Given the description of an element on the screen output the (x, y) to click on. 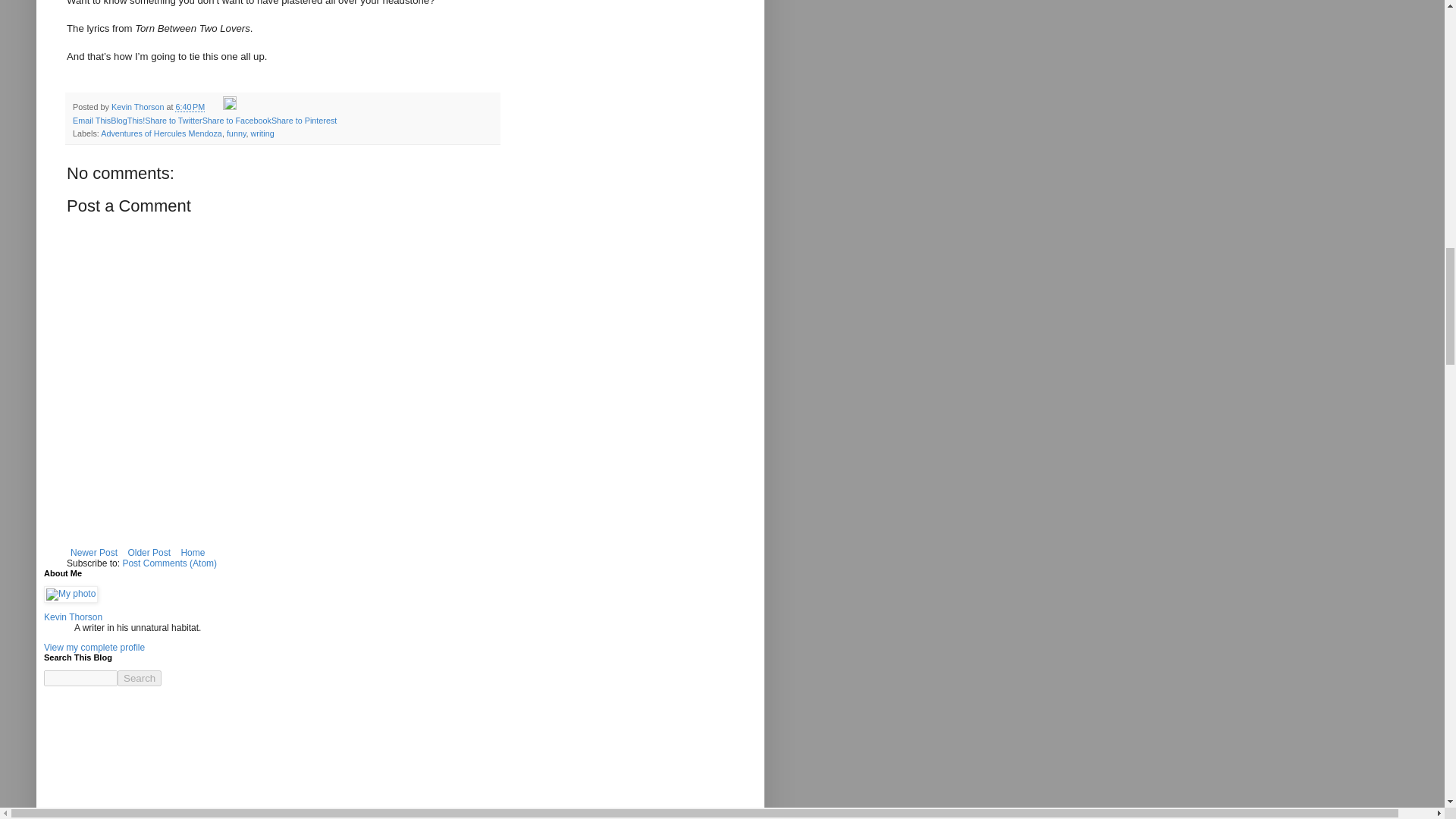
Share to Twitter (173, 120)
Share to Pinterest (303, 120)
author profile (138, 106)
Email This (91, 120)
Search (139, 678)
Share to Facebook (236, 120)
BlogThis! (127, 120)
Share to Pinterest (303, 120)
Email This (91, 120)
BlogThis! (127, 120)
Kevin Thorson (138, 106)
Adventures of Hercules Mendoza (161, 133)
Older Post (148, 552)
Search (139, 678)
permanent link (189, 106)
